Given the description of an element on the screen output the (x, y) to click on. 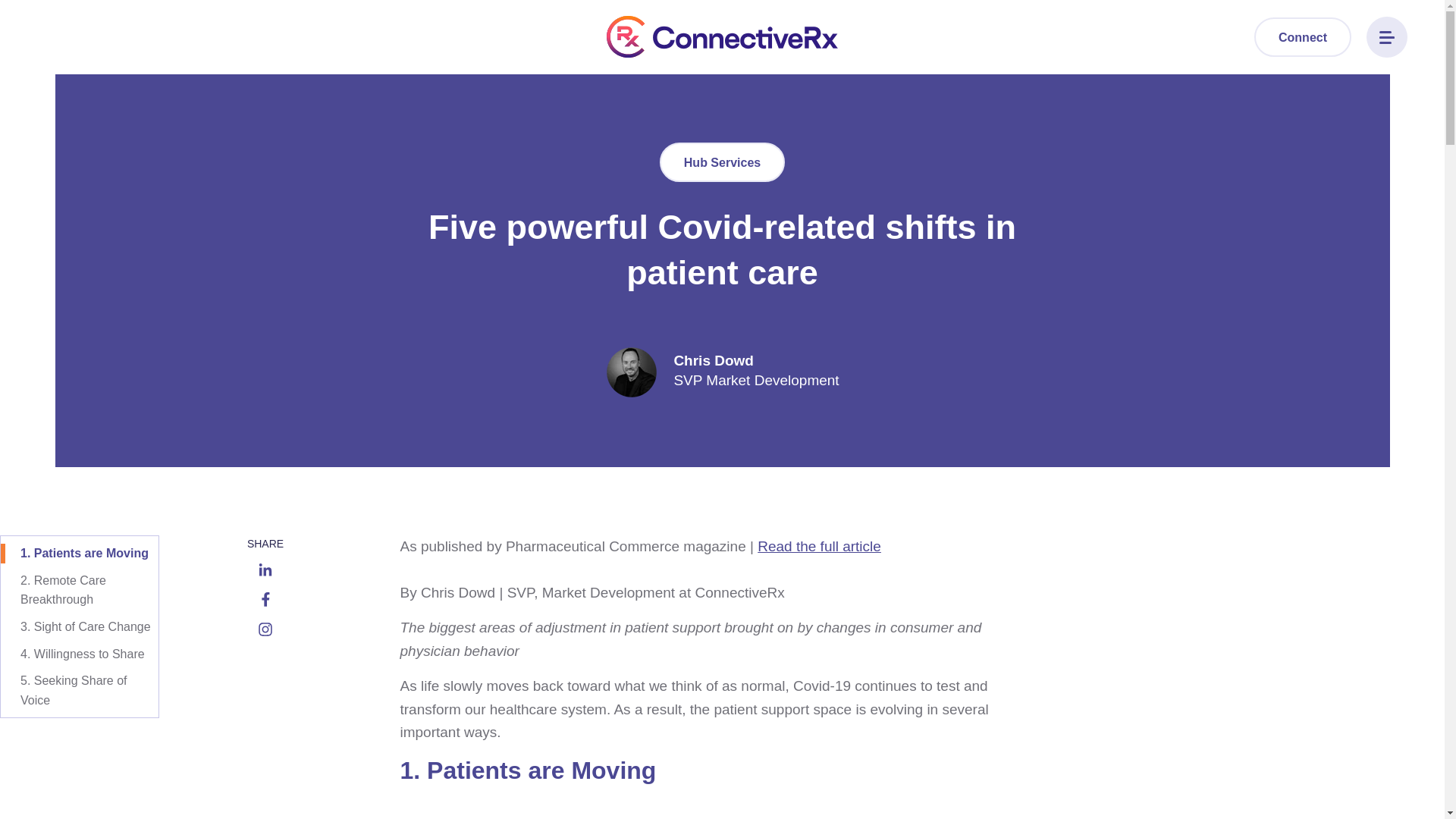
3. Sight of Care Change (79, 627)
4. Willingness to Share (79, 654)
Read the full article (818, 546)
5. Seeking Share of Voice (79, 690)
1. Patients are Moving (79, 553)
2. Remote Care Breakthrough (79, 589)
Connect (1302, 36)
Hub Services (721, 161)
